Given the description of an element on the screen output the (x, y) to click on. 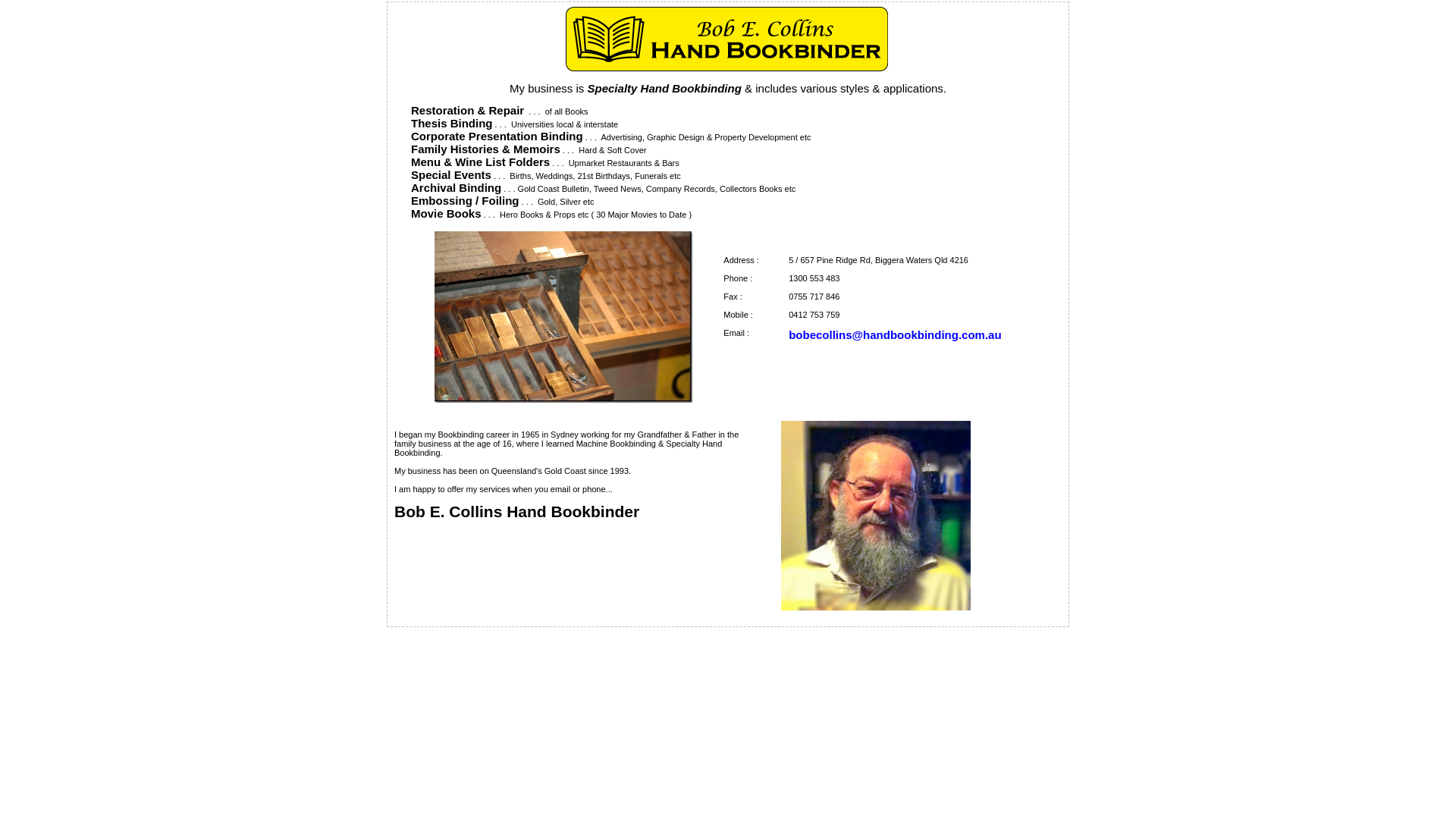
bobecollins@handbookbinding.com.au Element type: text (894, 334)
